Given the description of an element on the screen output the (x, y) to click on. 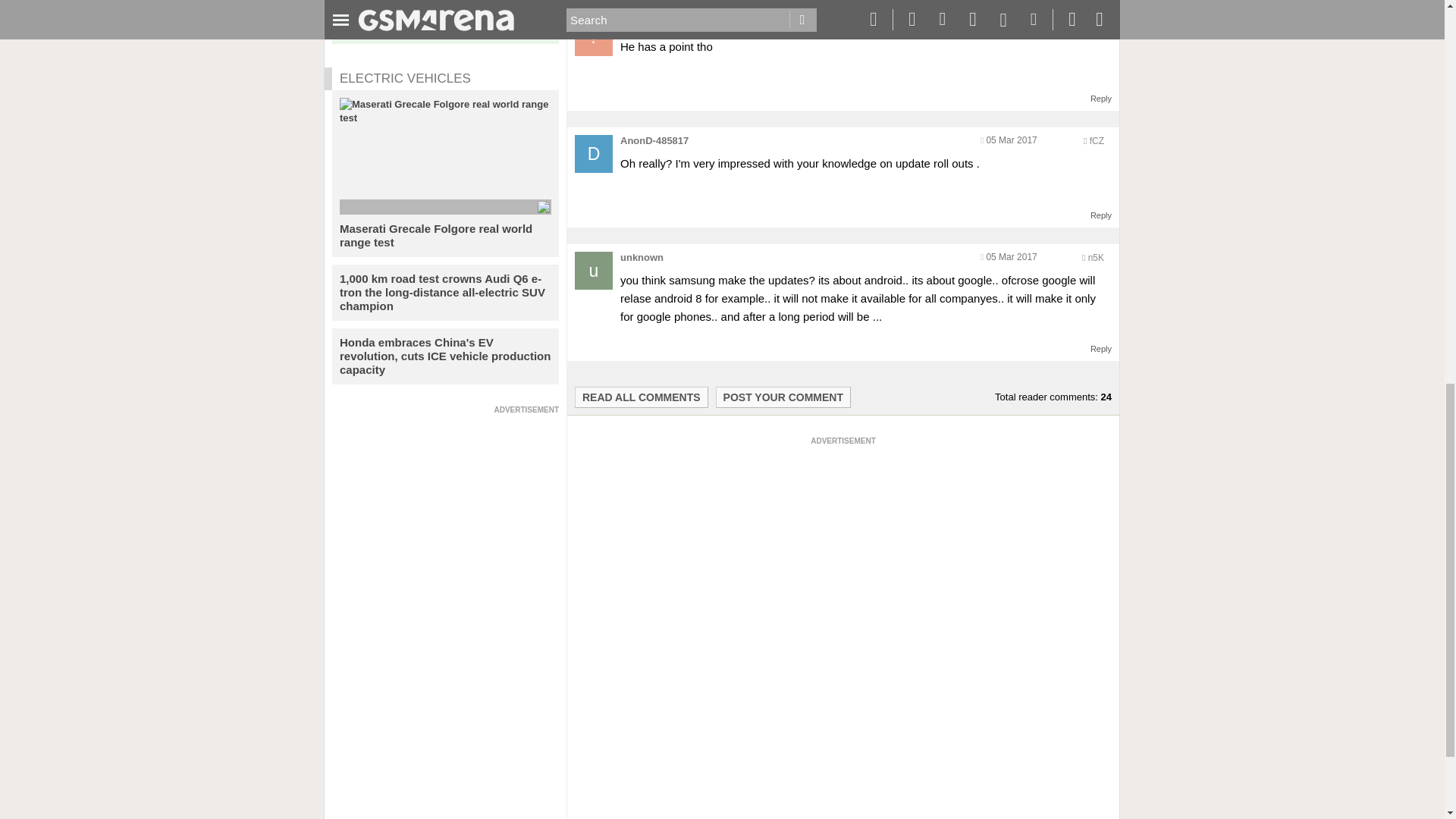
Encoded anonymized location (1096, 140)
Encoded anonymized location (1095, 257)
Reply to this post (1101, 215)
Reply to this post (1101, 98)
Reply to this post (1101, 347)
Encoded anonymized location (1093, 23)
